Given the description of an element on the screen output the (x, y) to click on. 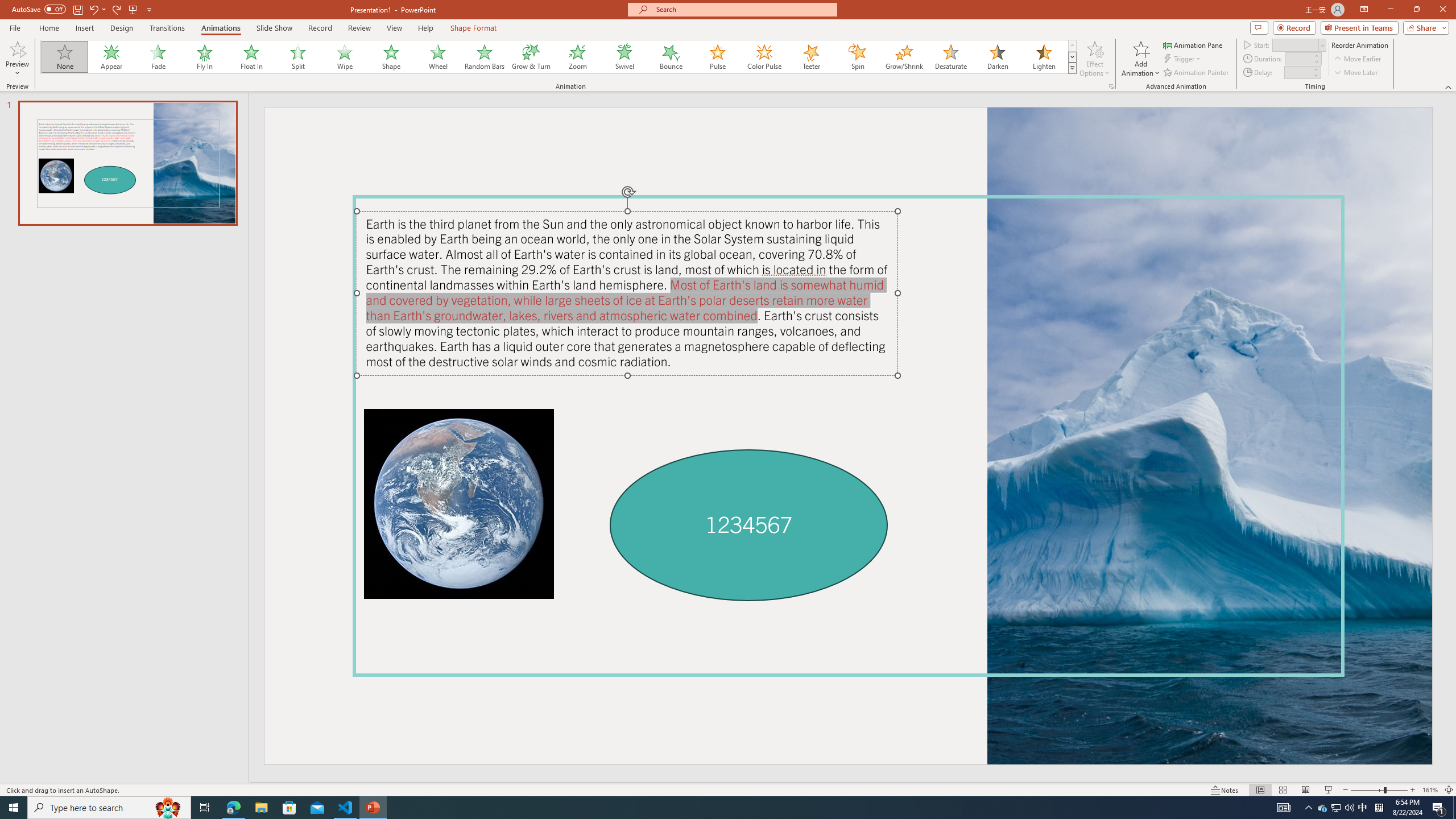
Pulse (717, 56)
Animation Pane (1193, 44)
Animation Delay (1297, 72)
Wheel (437, 56)
Grow & Turn (531, 56)
Appear (111, 56)
Move Later (1355, 72)
